Given the description of an element on the screen output the (x, y) to click on. 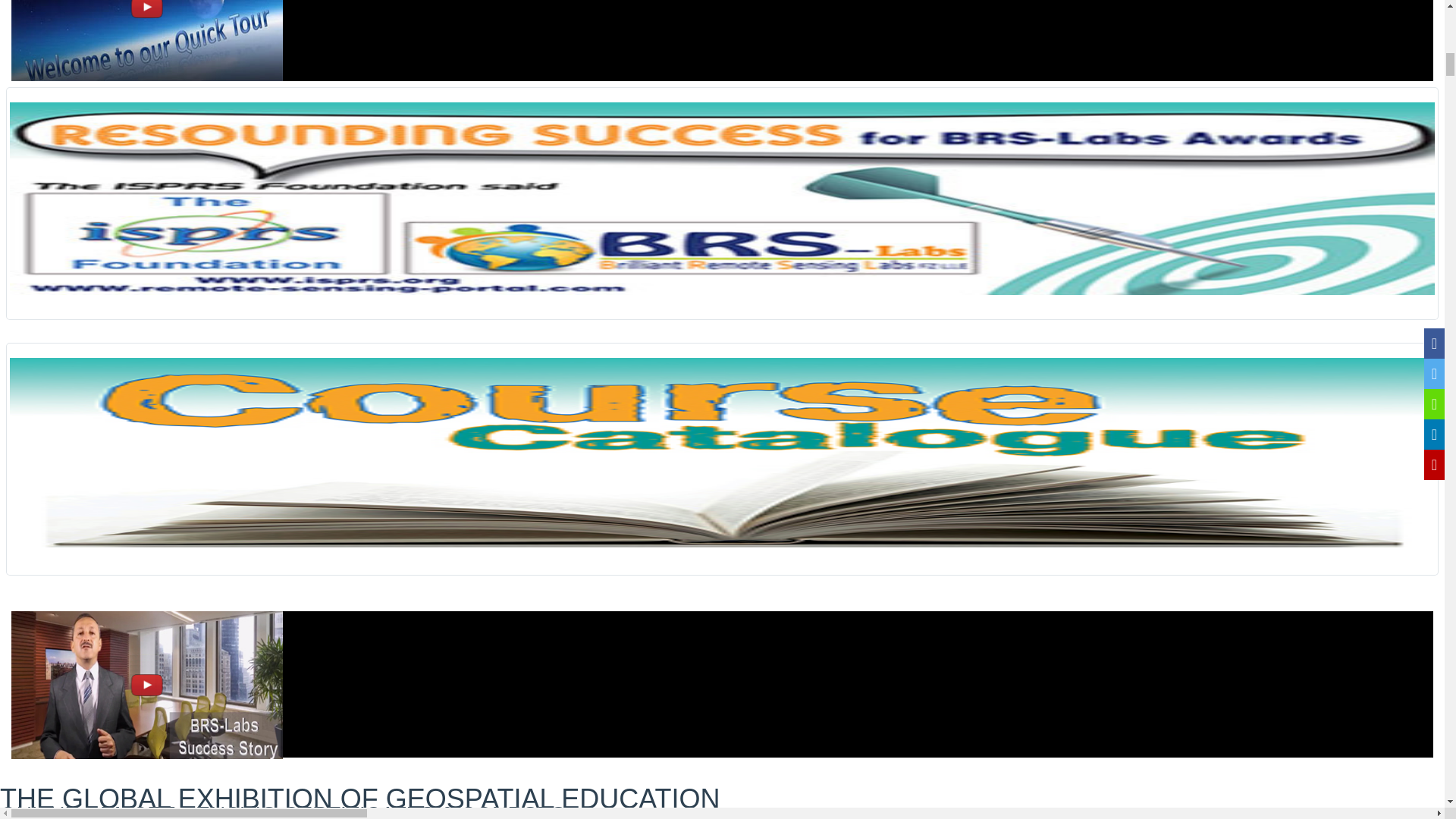
video 1 (146, 40)
